Given the description of an element on the screen output the (x, y) to click on. 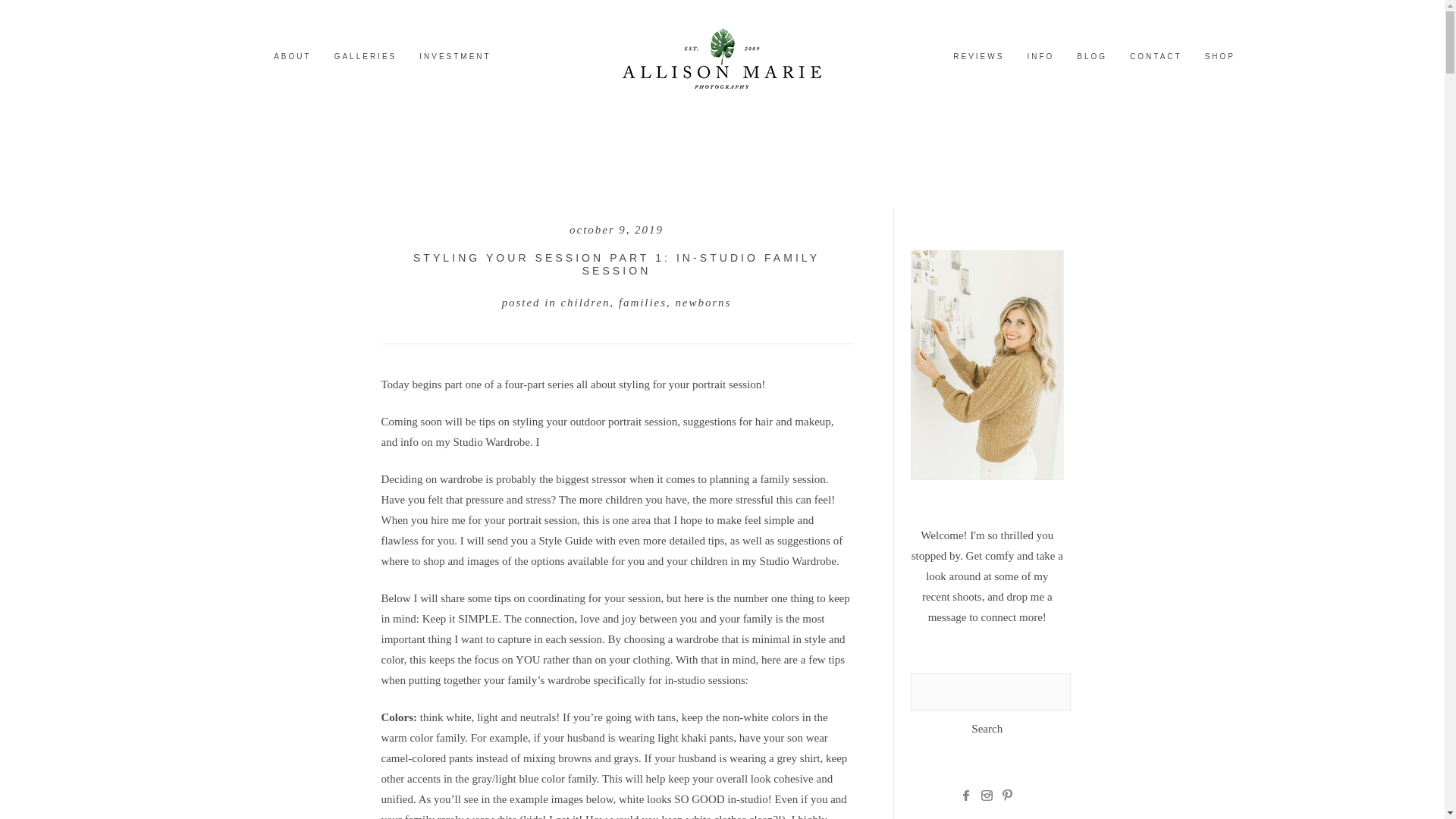
CONTACT (1155, 56)
INFO (1040, 56)
GALLERIES (365, 56)
Search (986, 729)
ABOUT (292, 56)
INVESTMENT (454, 56)
REVIEWS (978, 56)
BLOG (1091, 56)
